Given the description of an element on the screen output the (x, y) to click on. 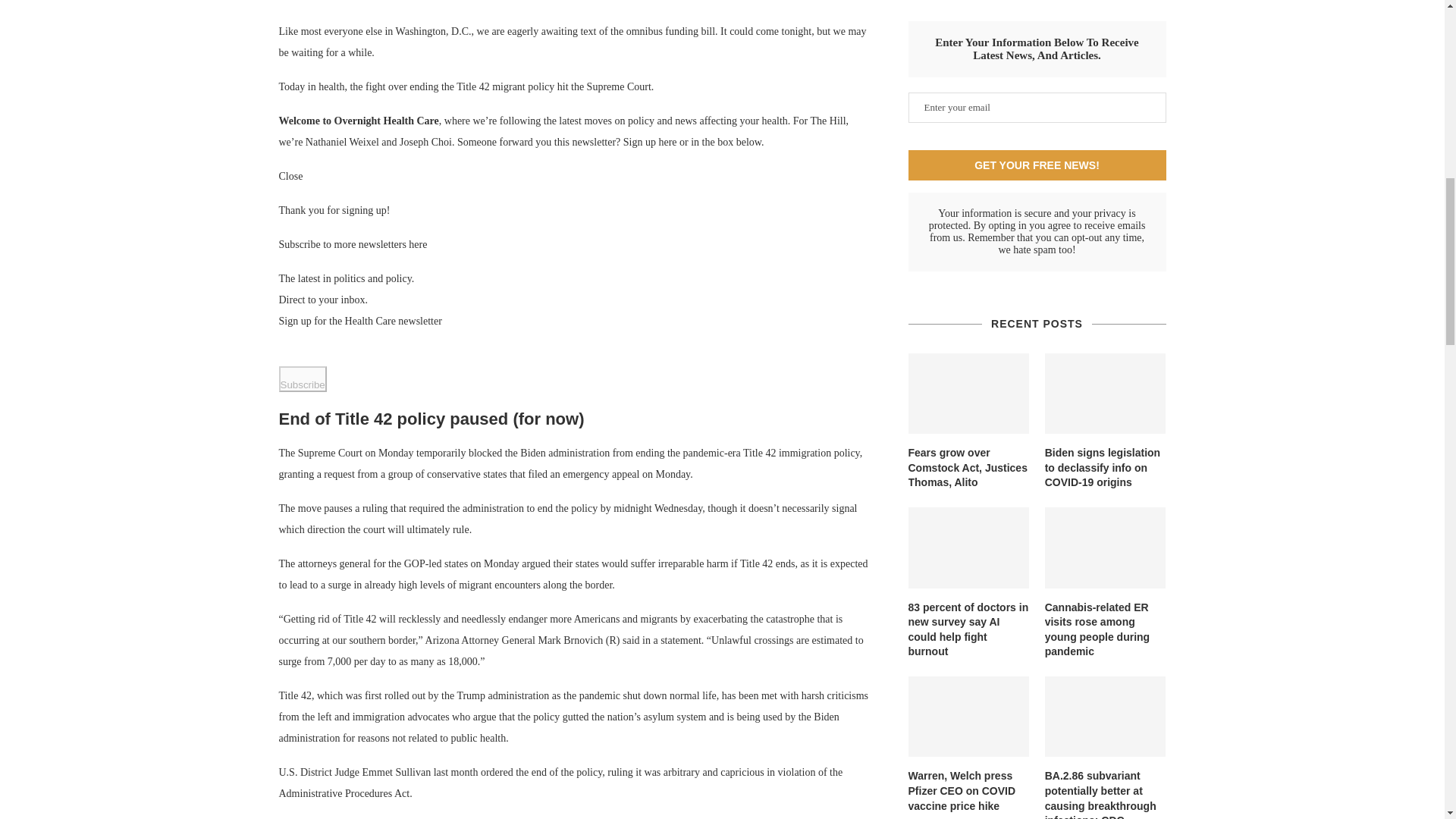
Subscribe (302, 378)
Get Your Free News! (1037, 164)
Enter your email (1037, 107)
